Given the description of an element on the screen output the (x, y) to click on. 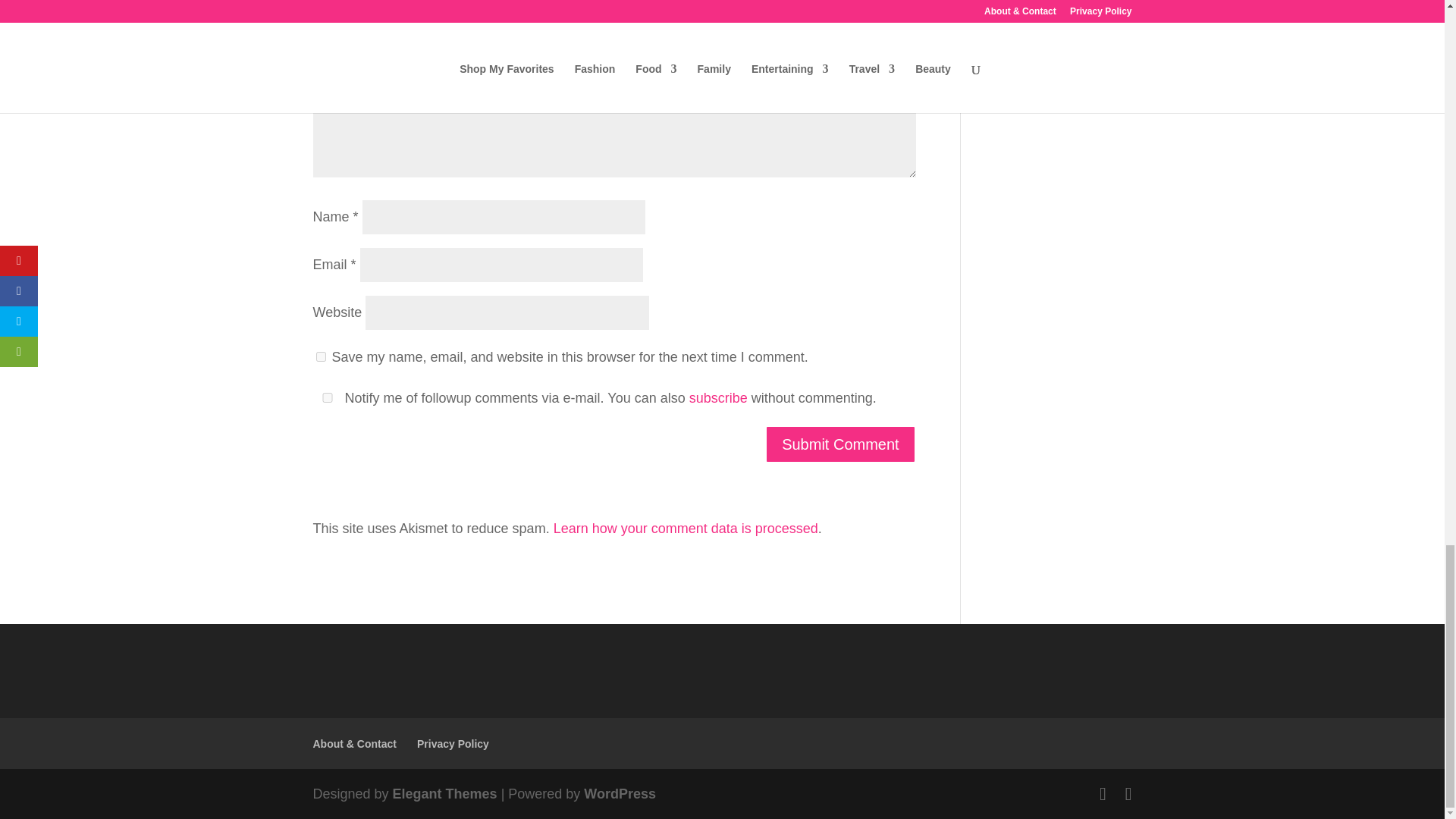
subscribe (718, 397)
Premium WordPress Themes (445, 793)
Submit Comment (840, 444)
yes (326, 397)
yes (319, 356)
Submit Comment (840, 444)
Learn how your comment data is processed (685, 528)
